Given the description of an element on the screen output the (x, y) to click on. 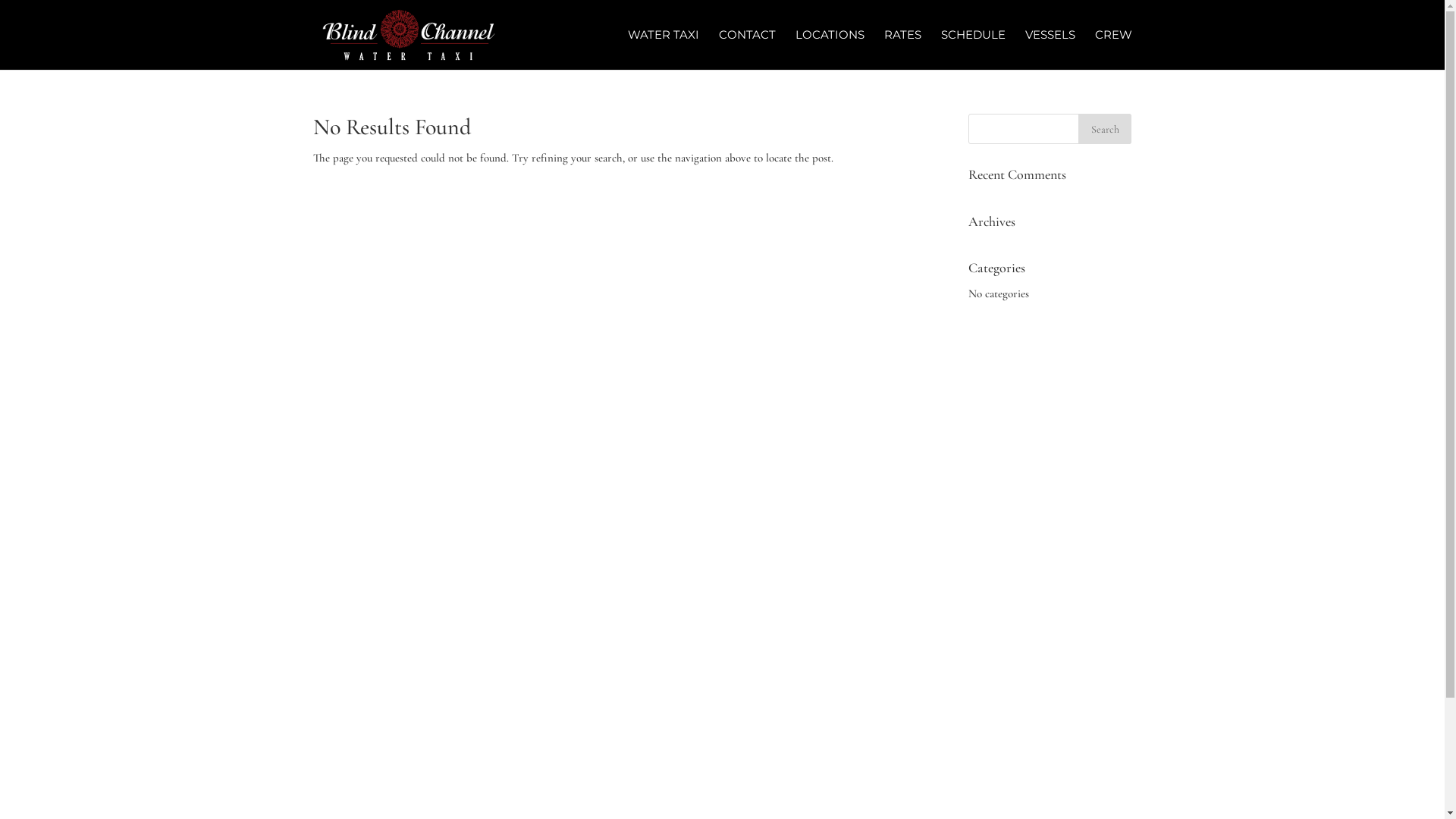
LOCATIONS Element type: text (828, 49)
CREW Element type: text (1113, 49)
VESSELS Element type: text (1050, 49)
Search Element type: text (1104, 128)
RATES Element type: text (902, 49)
WATER TAXI Element type: text (663, 49)
SCHEDULE Element type: text (972, 49)
CONTACT Element type: text (746, 49)
